Given the description of an element on the screen output the (x, y) to click on. 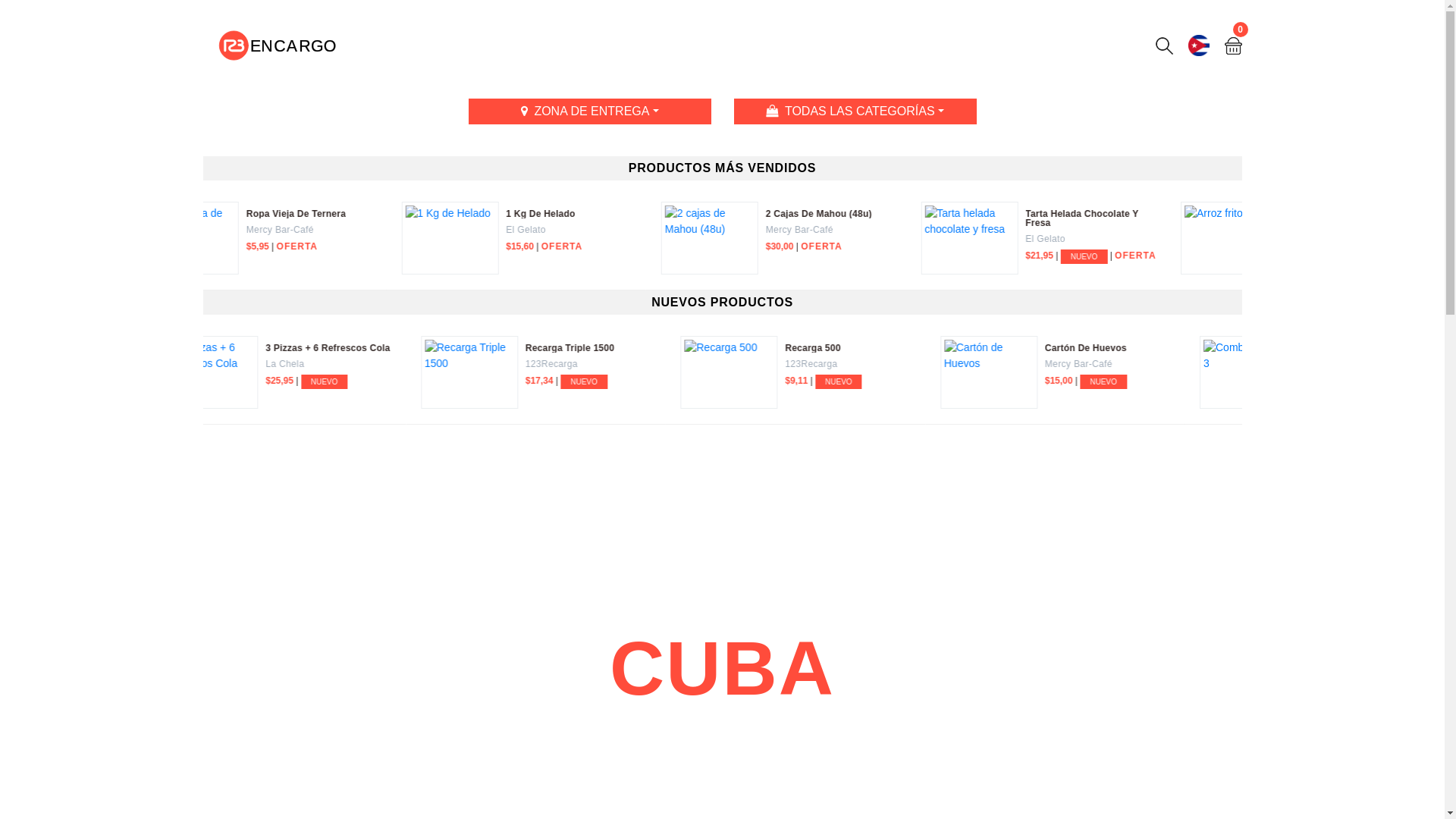
NUEVO Element type: text (901, 381)
1 Kg De Helado
El Gelato
$15,60 | OFERTA Element type: text (1117, 237)
Combo Tuyo Especial
Rapid Cuba
$198,00 | NUEVO Element type: text (598, 372)
Recarga Triple 1500
123Recarga
$17,34 | NUEVO Element type: text (1117, 372)
  ZONA DE ENTREGA Element type: text (589, 111)
Pan De Molde
El Gelato
$3,40 | NUEVO Element type: text (338, 372)
0 Element type: text (1232, 44)
NUEVO Element type: text (1160, 381)
NUEVO Element type: text (376, 381)
3 Pizzas + 6 Refrescos Cola
La Chela
$25,95 | NUEVO Element type: text (858, 372)
NUEVO Element type: text (646, 381)
